Given the description of an element on the screen output the (x, y) to click on. 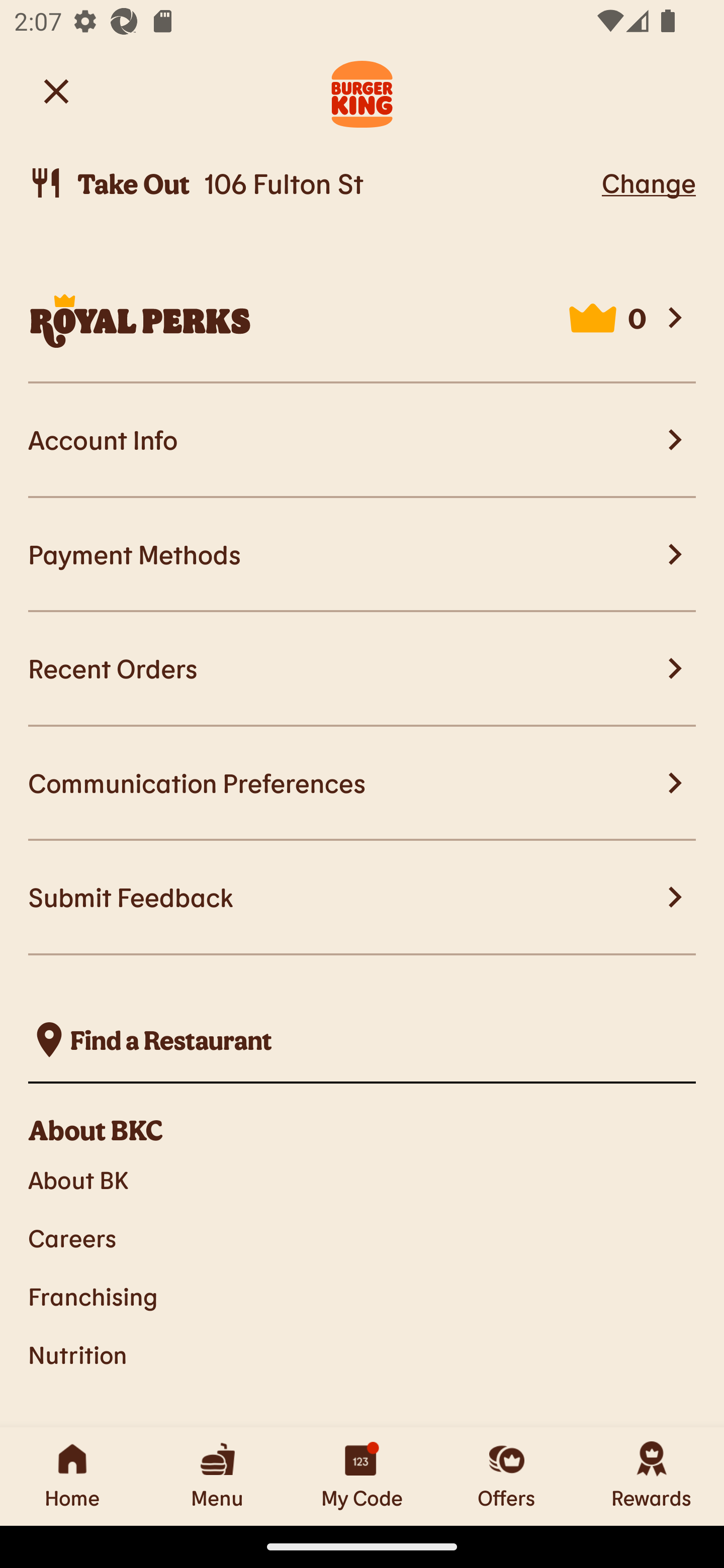
Burger King Logo. Navigate to Home (362, 91)
Back  (56, 90)
Take Out, 106 Fulton St  Take Out 106 Fulton St (311, 183)
Change (648, 182)
Account Info Account Info  (361, 441)
Payment Methods Payment Methods  (361, 554)
Recent Orders Recent Orders  (361, 668)
Submit Feedback Submit Feedback  (361, 897)
, Find a Restaurant  Find a Restaurant (361, 1040)
About BK (361, 1178)
Careers (361, 1237)
Franchising (361, 1295)
Nutrition (361, 1354)
Home (72, 1475)
Menu (216, 1475)
My Code (361, 1475)
Offers (506, 1475)
Rewards (651, 1475)
